Given the description of an element on the screen output the (x, y) to click on. 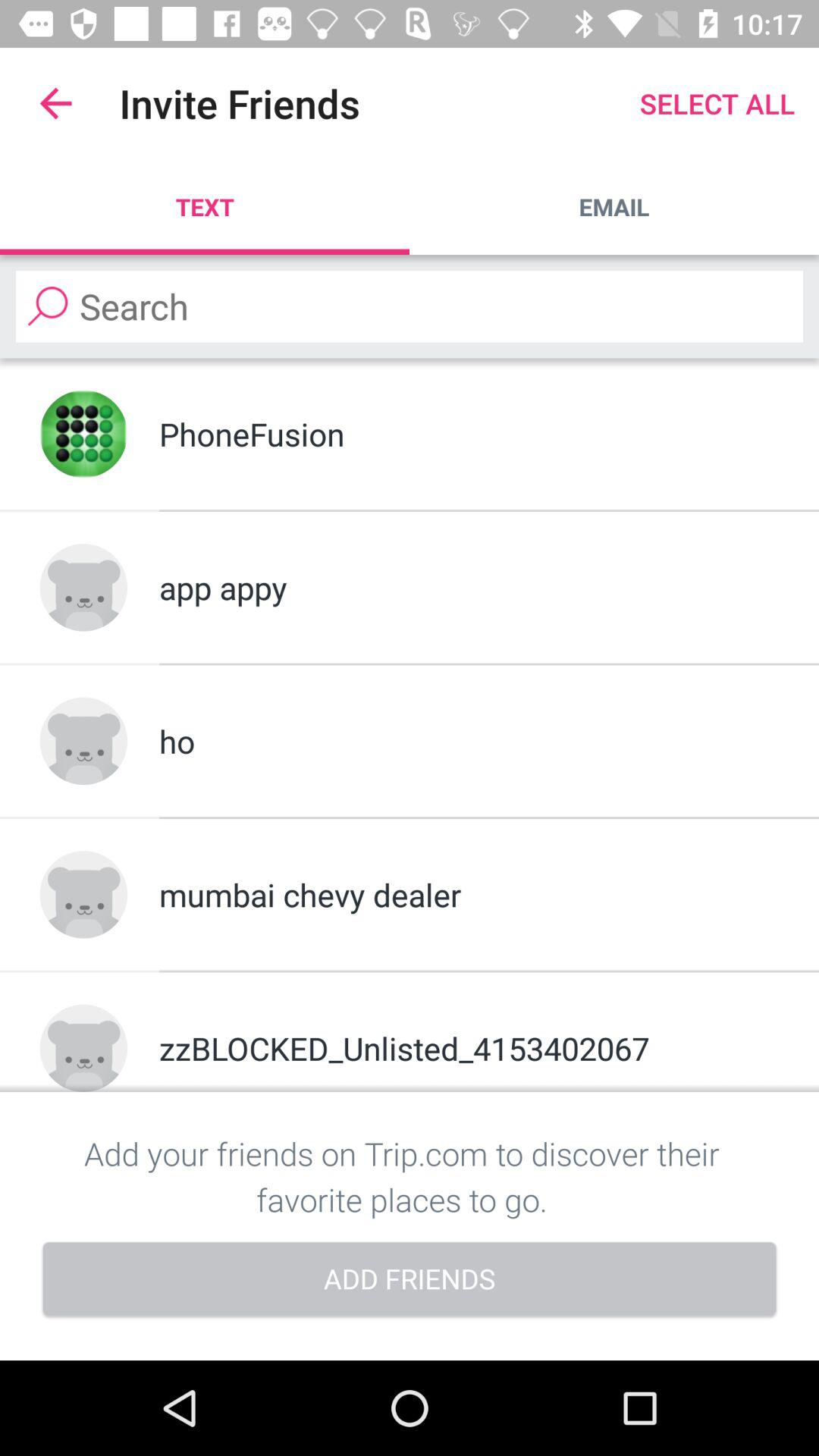
enter search terms (409, 306)
